Given the description of an element on the screen output the (x, y) to click on. 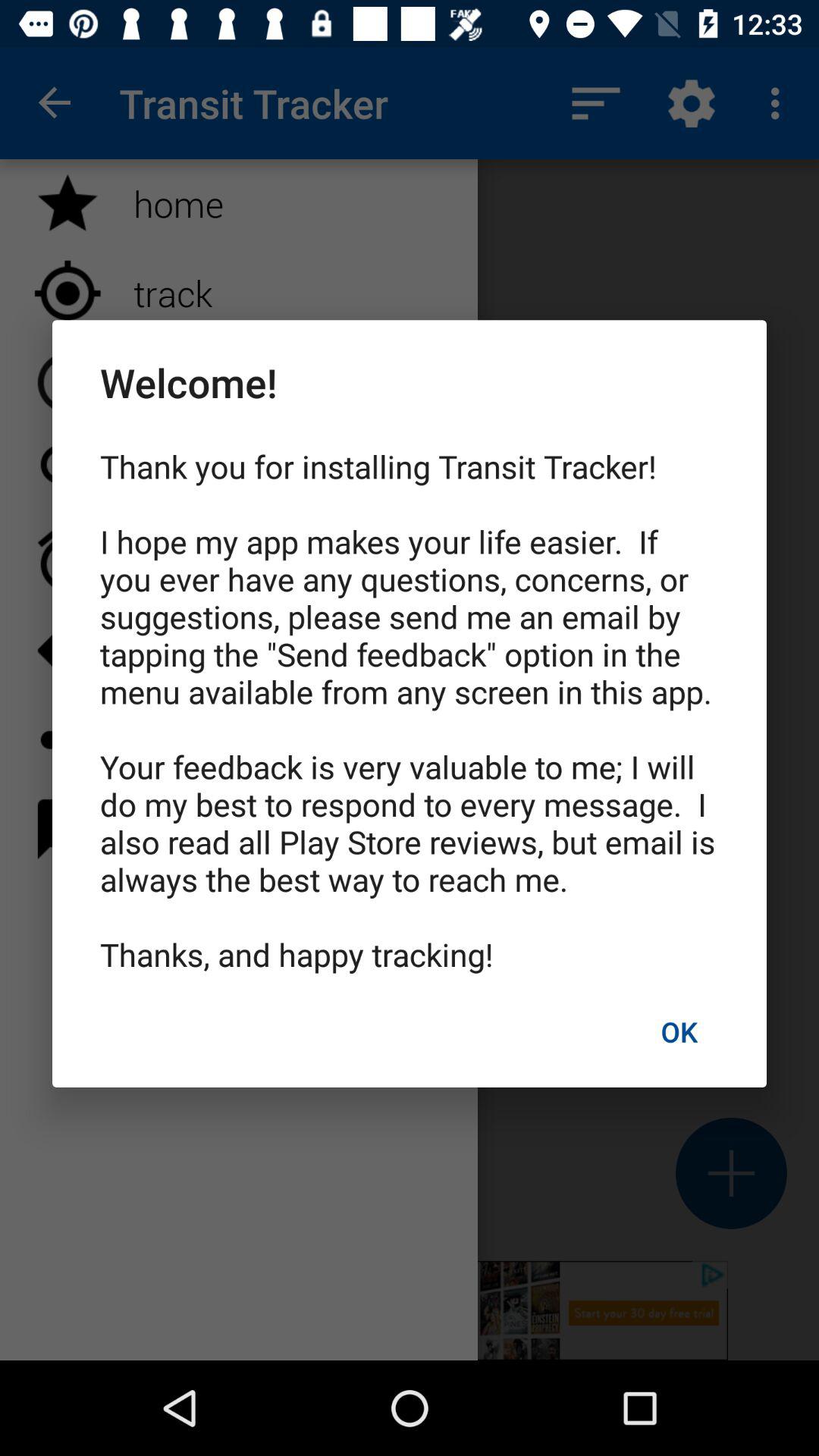
press ok button (678, 1031)
